Given the description of an element on the screen output the (x, y) to click on. 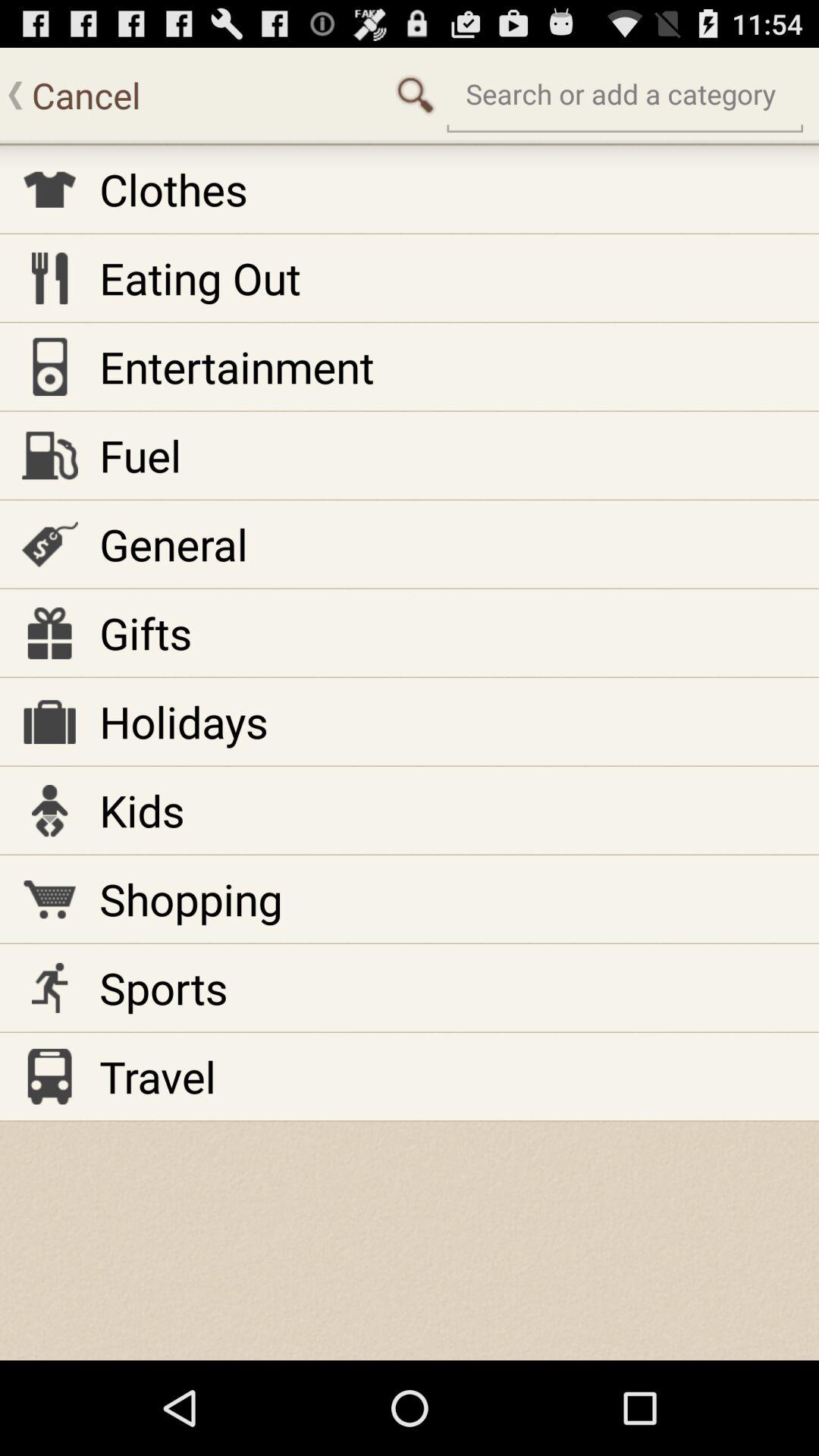
select the icon below the shopping item (163, 987)
